Given the description of an element on the screen output the (x, y) to click on. 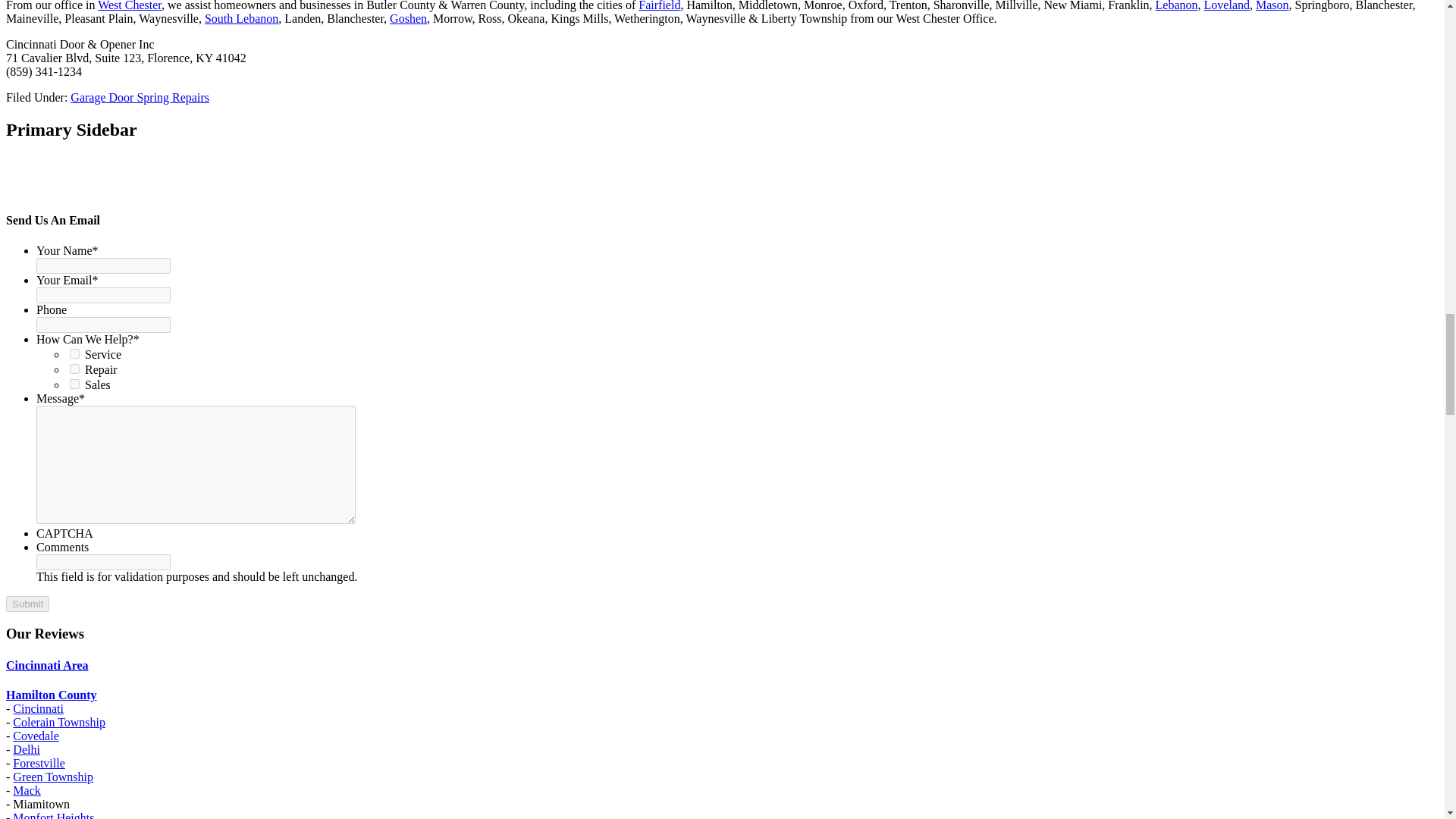
Submit (27, 603)
Service (74, 353)
Repair (74, 368)
Sales (74, 384)
